Given the description of an element on the screen output the (x, y) to click on. 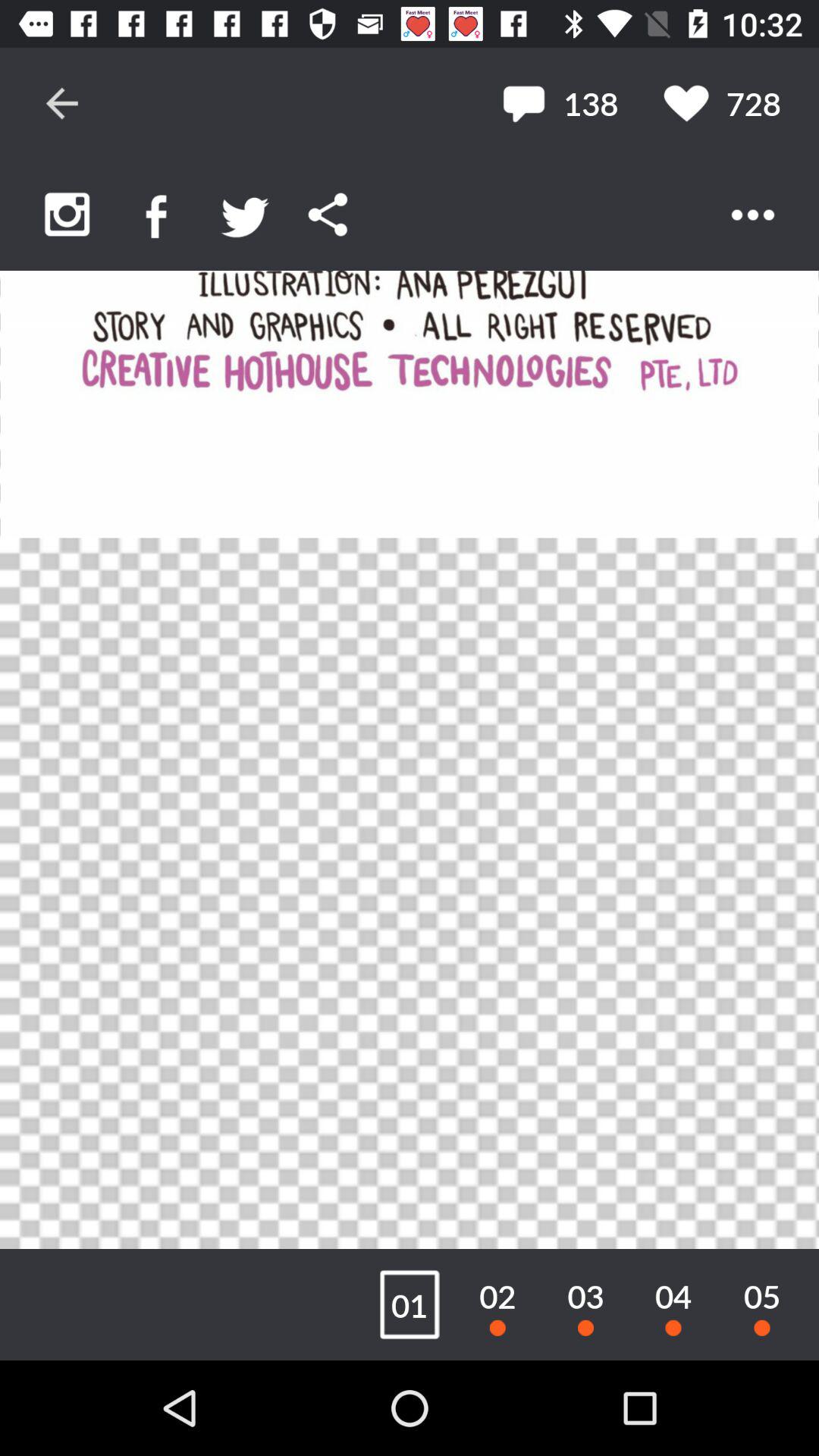
flip until the 138  icon (559, 103)
